Given the description of an element on the screen output the (x, y) to click on. 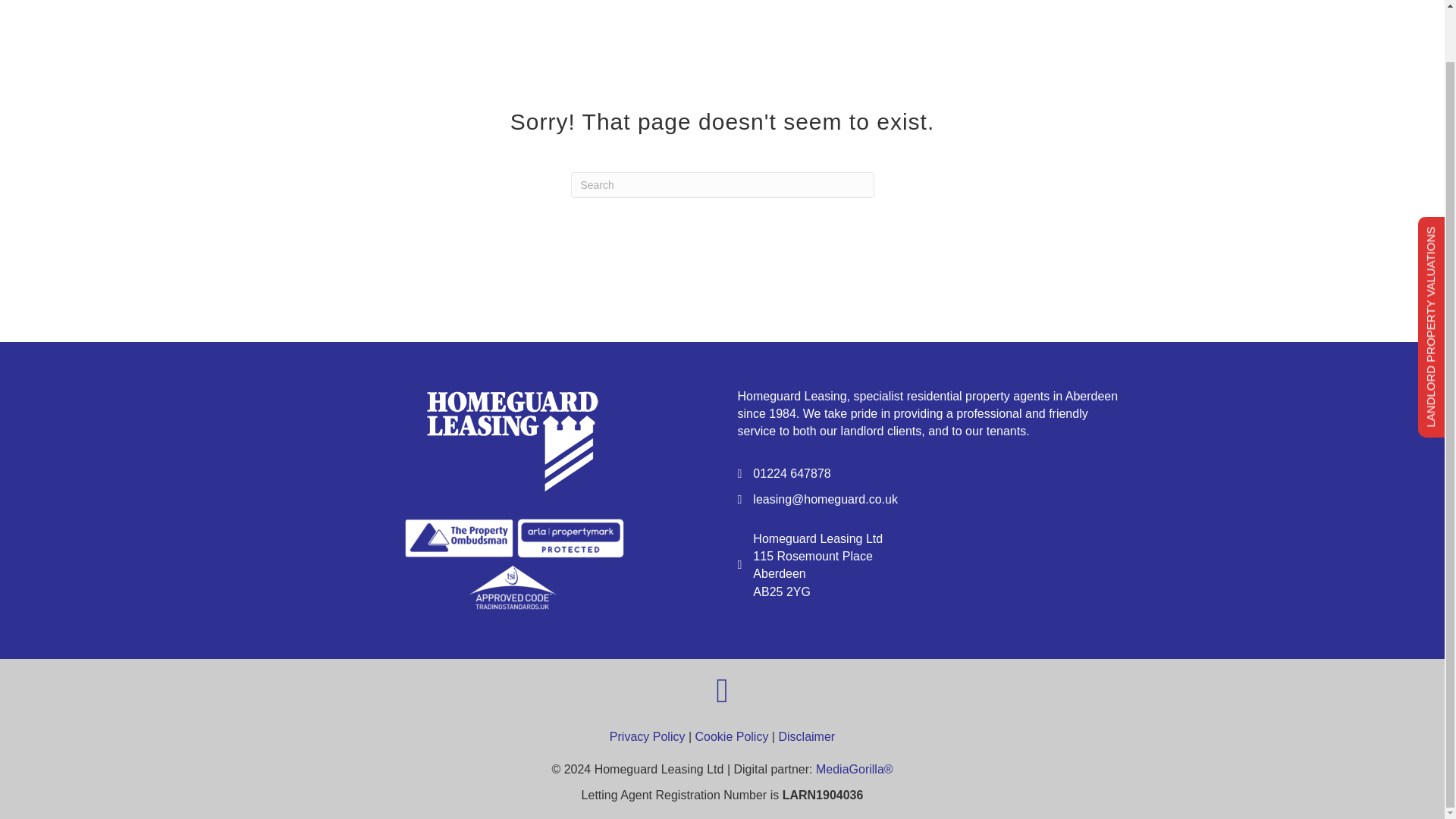
Cookie Policy (731, 736)
Type and press Enter to search. (721, 184)
Disclaimer (805, 736)
Homeguard Leasing Logo white 250 (513, 435)
footer-logos-white-big (513, 563)
01224 647878 (790, 473)
Privacy Policy (647, 736)
